Given the description of an element on the screen output the (x, y) to click on. 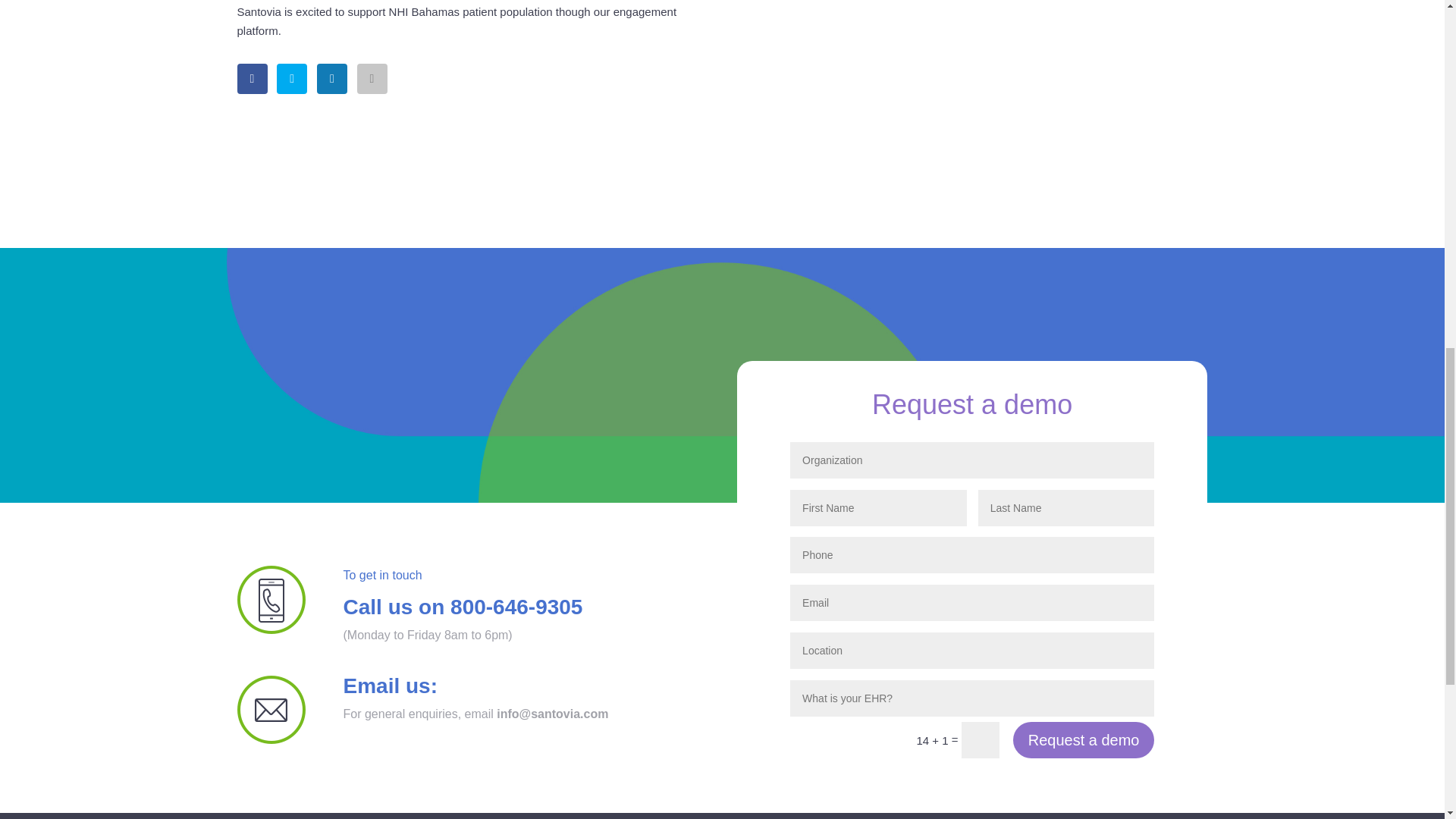
Request a demo (1083, 739)
